Given the description of an element on the screen output the (x, y) to click on. 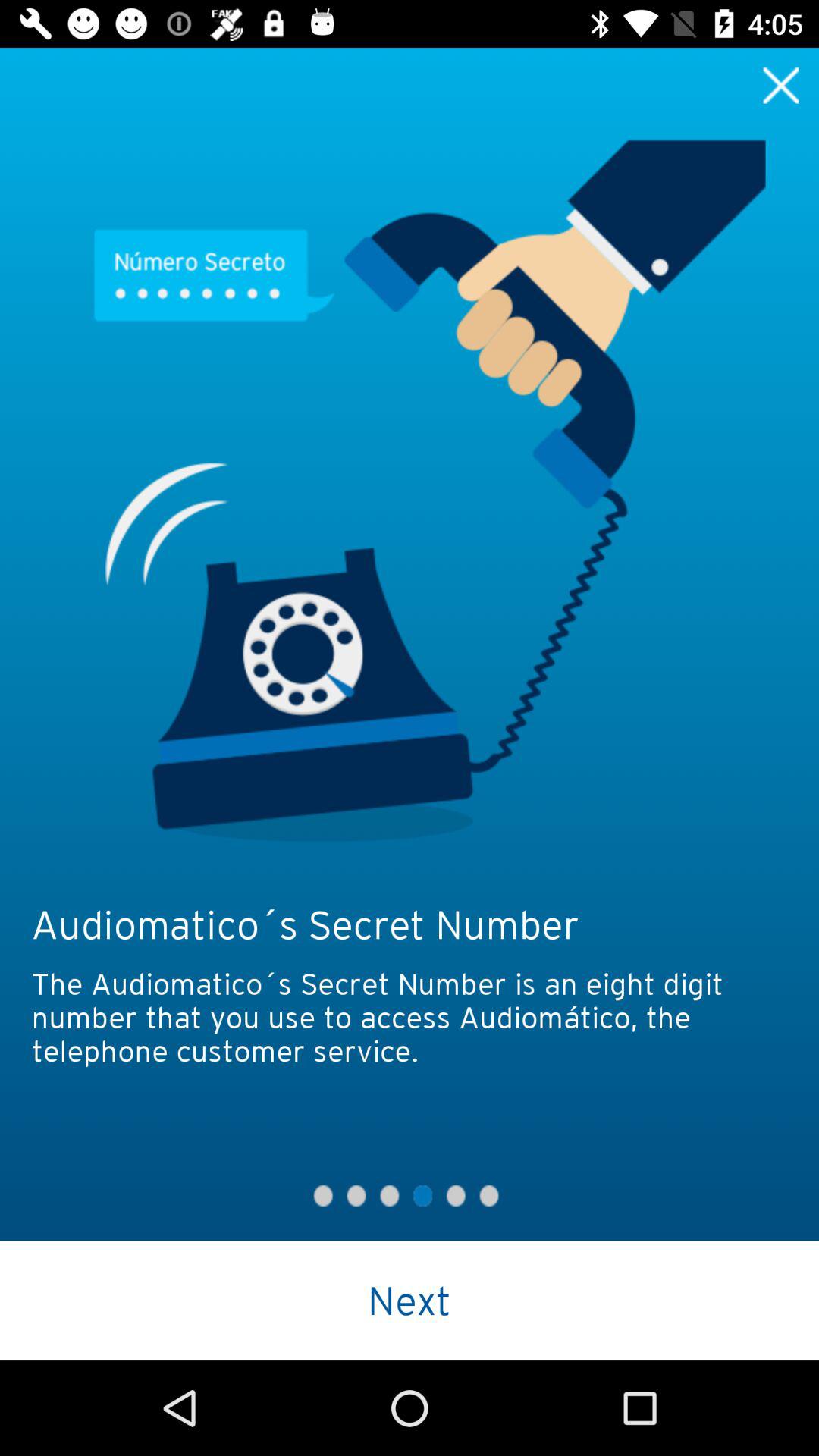
click the next icon (409, 1300)
